Given the description of an element on the screen output the (x, y) to click on. 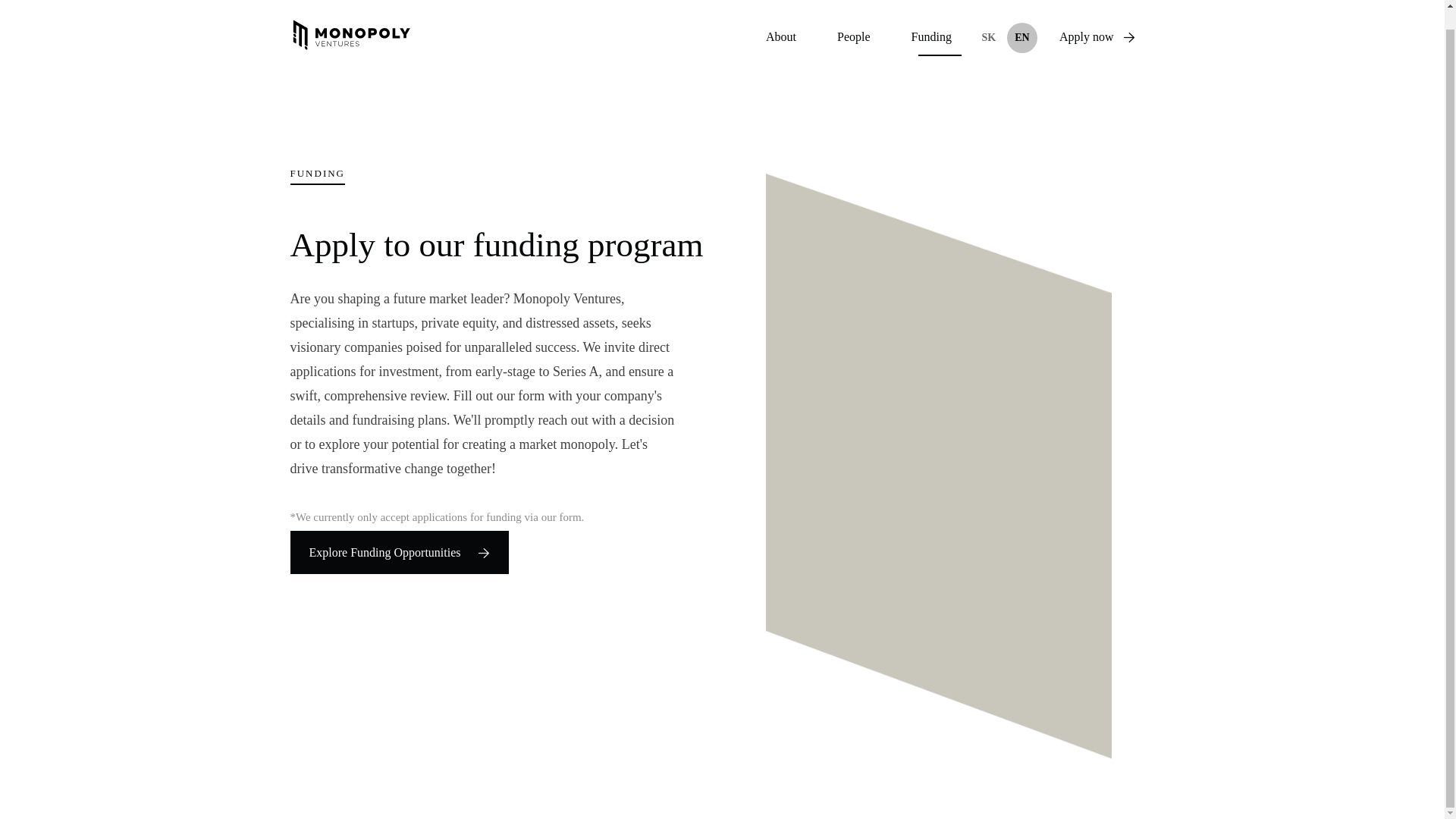
Apply now (1097, 36)
Funding (931, 36)
About (780, 36)
Explore Funding Opportunities (398, 552)
Monopoly Ventures (349, 35)
EN (1021, 37)
SK (989, 37)
People (853, 36)
